Given the description of an element on the screen output the (x, y) to click on. 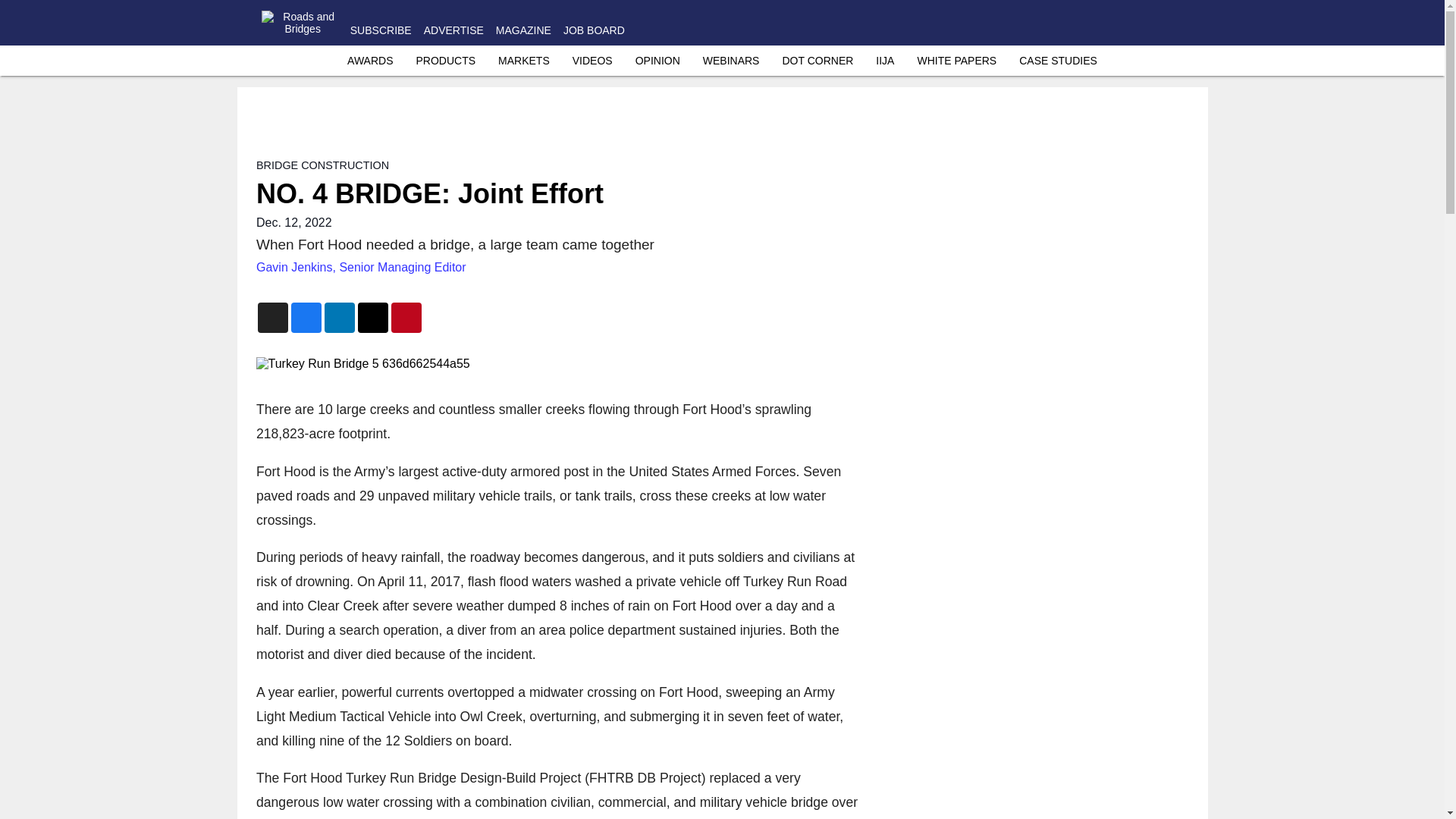
Turkey Run Bridge 5 636d662544a55 (560, 364)
IIJA (884, 60)
WEBINARS (731, 60)
SUBSCRIBE (381, 30)
BRIDGE CONSTRUCTION (322, 164)
MAGAZINE (523, 30)
JOB BOARD (593, 30)
DOT CORNER (817, 60)
AWARDS (370, 60)
MARKETS (523, 60)
